Given the description of an element on the screen output the (x, y) to click on. 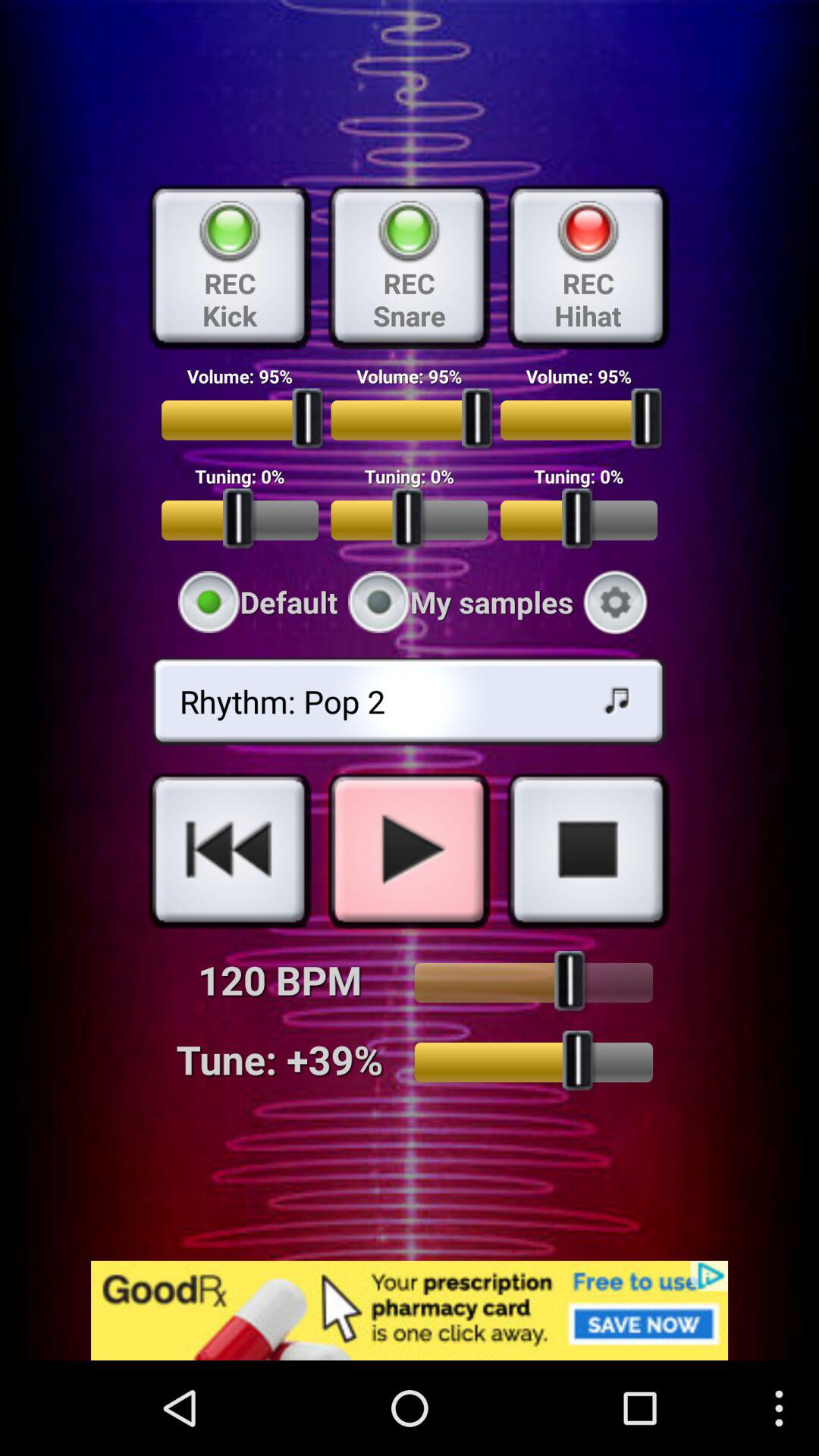
a link to rewind (229, 850)
